Given the description of an element on the screen output the (x, y) to click on. 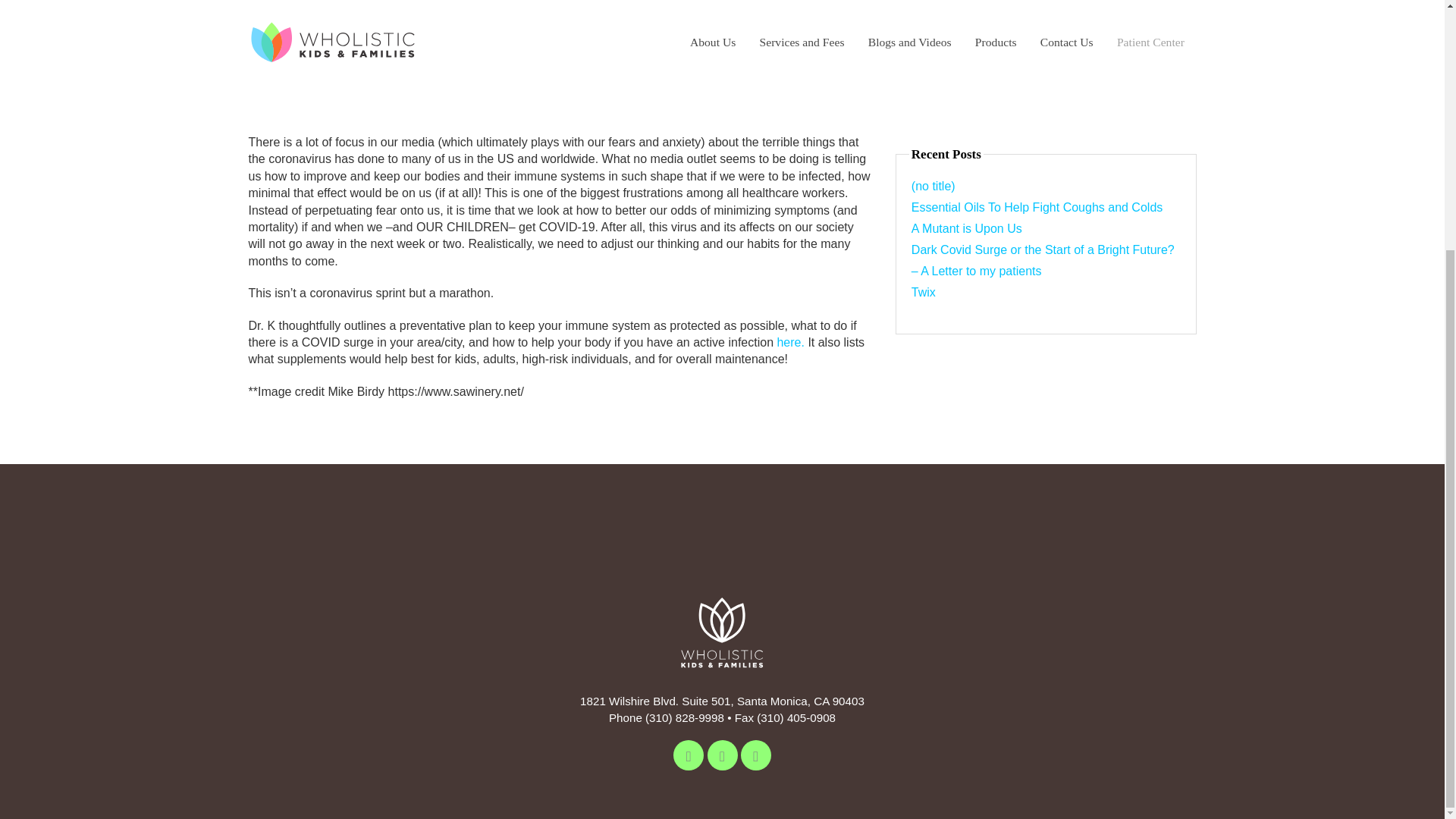
Essential Oils To Help Fight Coughs and Colds (1036, 206)
A Mutant is Upon Us (966, 228)
here. (789, 341)
Twix (923, 291)
